Given the description of an element on the screen output the (x, y) to click on. 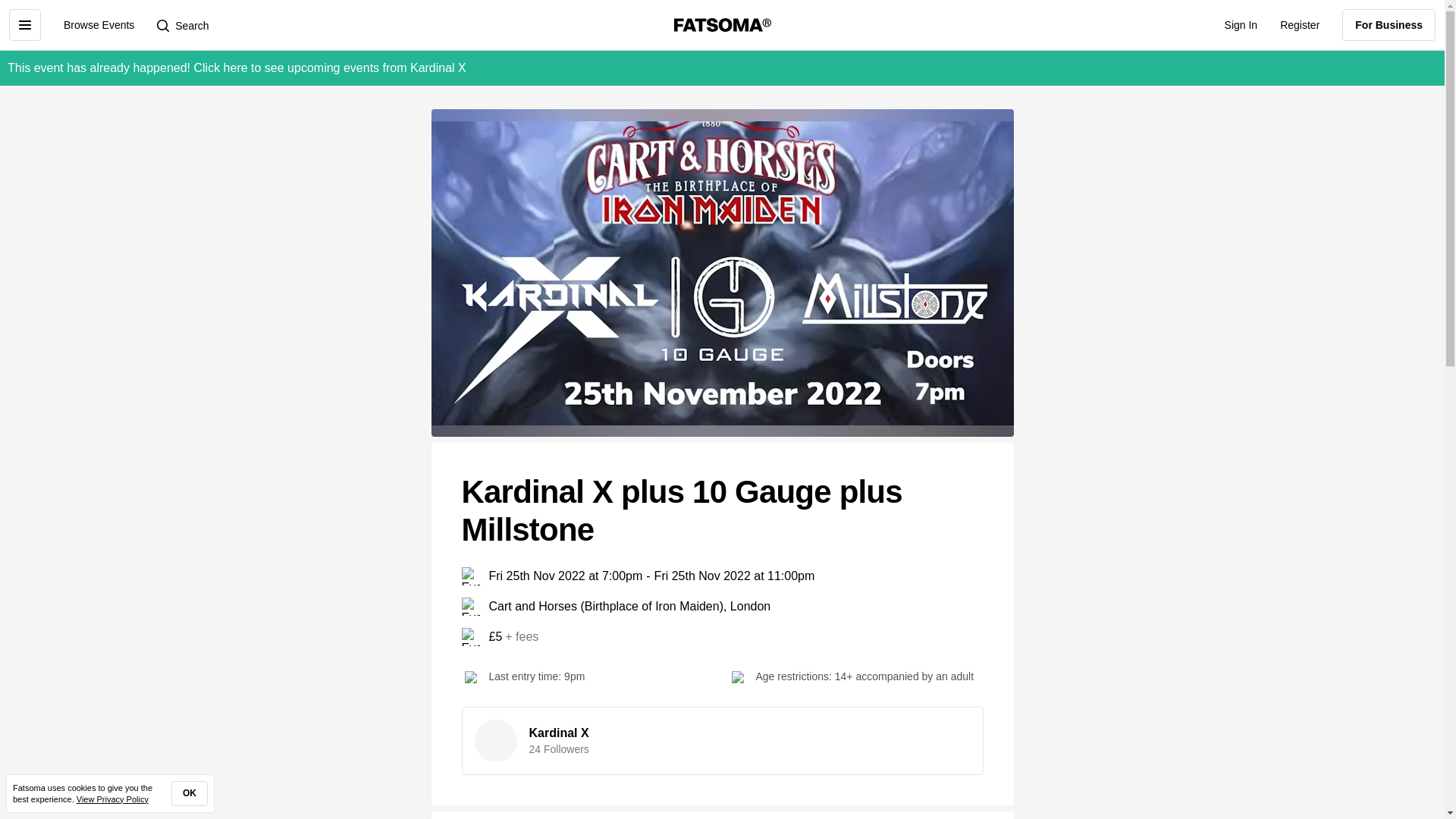
Kardinal X (559, 733)
Register (1299, 24)
For Business (1388, 24)
Search (182, 24)
View Privacy Policy (112, 798)
Browse Events (98, 24)
OK (189, 793)
Sign In (1240, 24)
